Given the description of an element on the screen output the (x, y) to click on. 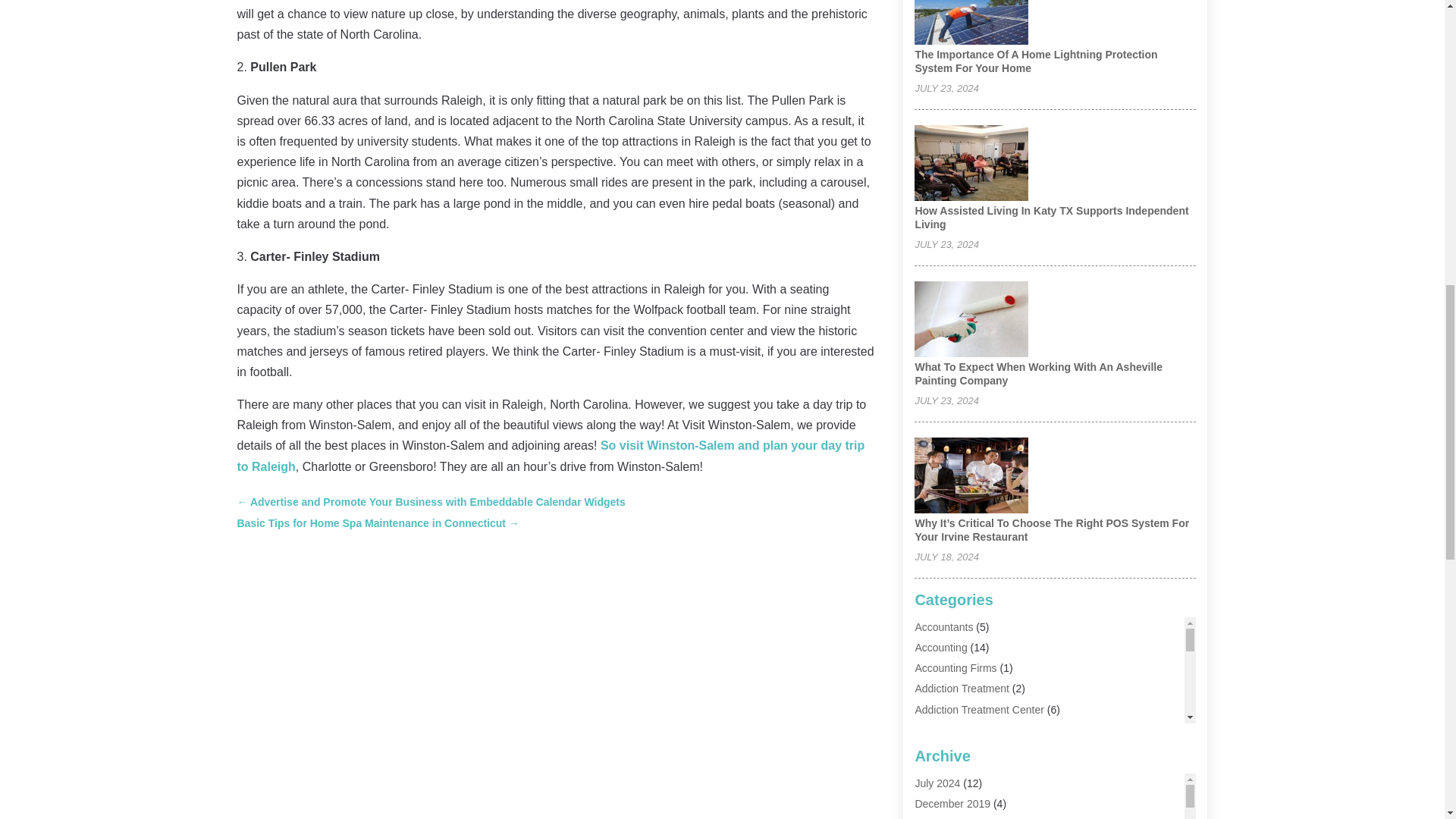
Addiction Treatment Center (978, 709)
Accounting (940, 647)
Adoption (935, 750)
Accountants (943, 626)
Accounting Firms (954, 667)
So visit Winston-Salem and plan your day trip to Raleigh (549, 455)
Addiction Treatment Support (981, 729)
How Assisted Living In Katy TX Supports Independent Living (1051, 217)
Addiction Treatment (961, 688)
